Given the description of an element on the screen output the (x, y) to click on. 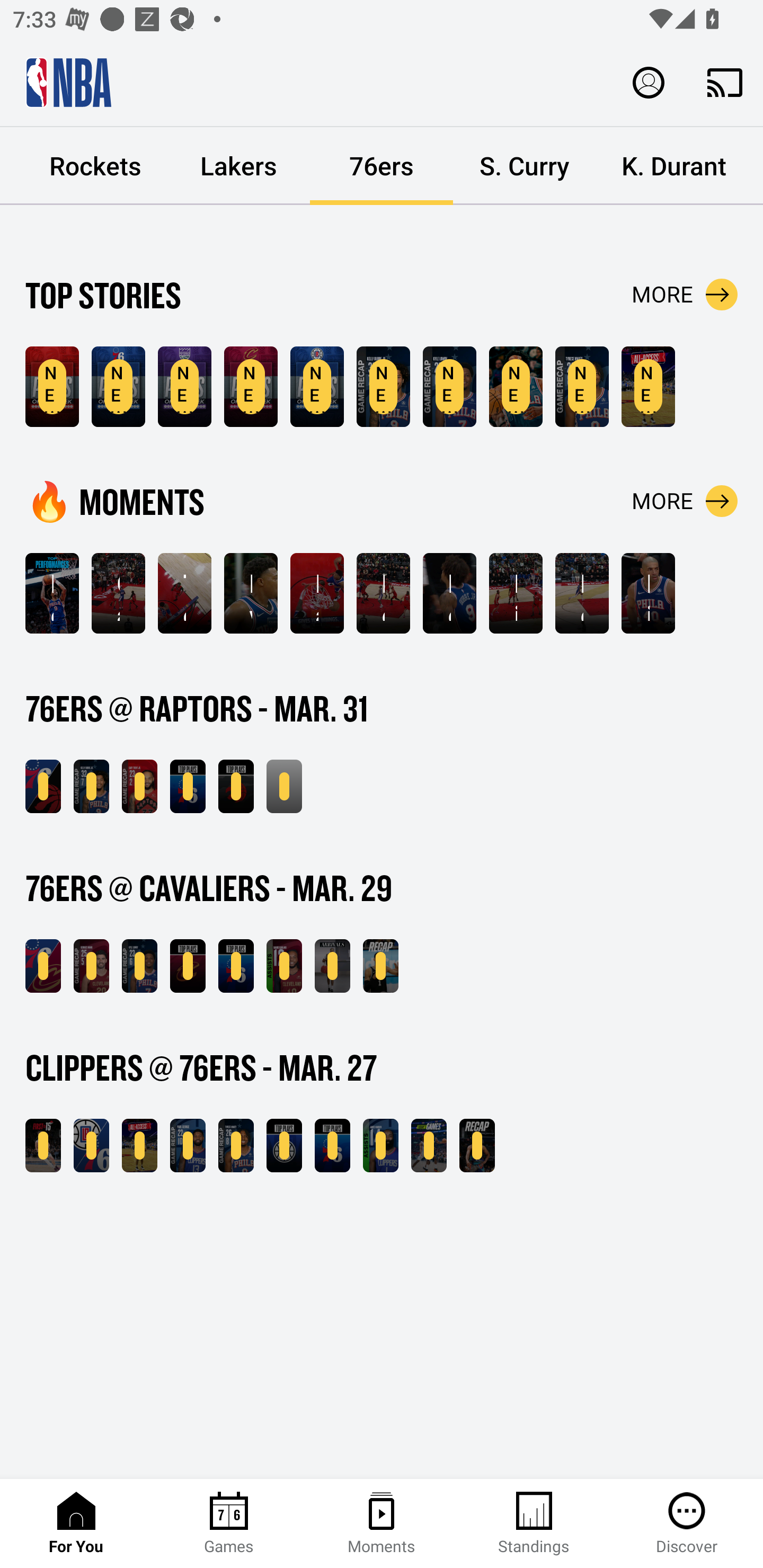
Cast. Disconnected (724, 82)
Profile (648, 81)
Rockets (95, 166)
Lakers (238, 166)
S. Curry (524, 166)
K. Durant (673, 166)
MORE (684, 294)
NEW TOR's Top Plays of Week 23 (51, 386)
NEW PHI's Top Plays of Week 23 (117, 386)
NEW SAC's Top Plays of Week 23 (184, 386)
NEW CLE's Top Plays of Week 23 (250, 386)
NEW LAC's Top Plays of Week 23 (317, 386)
Highlights From Kelly Oubre Jr's 32-Point Game NEW (383, 386)
Highlights From Kyle Lowry's 23-Point Game NEW (449, 386)
Nurse Believes Embiid Will Return In April NEW (515, 386)
Highlights From Tyrese Maxey's 26-Point Game NEW (581, 386)
MORE (684, 500)
Kelly Oubre's 32 Points In 30 Seconds (51, 593)
Cameron Payne connects from deep (117, 593)
Tobias Harris with the dunk (184, 593)
Kyle Lowry with the 3-pointer (250, 593)
Paul Reed rises to finish the alley-oop (317, 593)
Kelly Oubre Jr. connects from behind the arc (383, 593)
Kelly Oubre Jr. hits from way downtown (449, 593)
Nicolas Batum drills the triple (515, 593)
Kelly Oubre Jr. throws it down (581, 593)
Nicolas Batum drills the triple (648, 593)
NEW PHI @ TOR HIGHLIGHTS (43, 785)
NEW Highlights From Kelly Oubre Jr's 32-Point Game (91, 785)
NEW Highlights From Gary Trent Jr's 23-Point Game (139, 785)
NEW PHI's Top Plays from PHI vs. TOR (187, 785)
NEW TOR's Top Plays from PHI vs. TOR (236, 785)
Sunday's Recap NEW (284, 785)
NEW PHI @ CLE HIGHLIGHTS (43, 965)
NEW Highlights From Georges Niang's 25-Point Game (91, 965)
NEW Highlights From Kyle Lowry's 23-Point Game (139, 965)
NEW CLE's Top Plays from PHI vs. CLE (187, 965)
NEW PHI's Top Plays from PHI vs. CLE (236, 965)
Friday Night Fashion 😎 NEW (332, 965)
Friday's Recap NEW (380, 965)
NEW First to 15 Mar. 27th (43, 1145)
NEW LAC @ PHI HIGHLIGHTS (91, 1145)
NEW Highlights From Paul George's 22-Point Game (187, 1145)
NEW Highlights From Tyrese Maxey's 26-Point Game (236, 1145)
LAC's Top Plays from LAC vs. PHI NEW (284, 1145)
PHI's Top Plays from LAC vs. PHI NEW (332, 1145)
Highlights From James Harden's 14-Assist Game NEW (380, 1145)
Harden Returns To Philadelphia On ESPN 👀 NEW (428, 1145)
Wednesday's Recap NEW (477, 1145)
Games (228, 1523)
Moments (381, 1523)
Standings (533, 1523)
Discover (686, 1523)
